Given the description of an element on the screen output the (x, y) to click on. 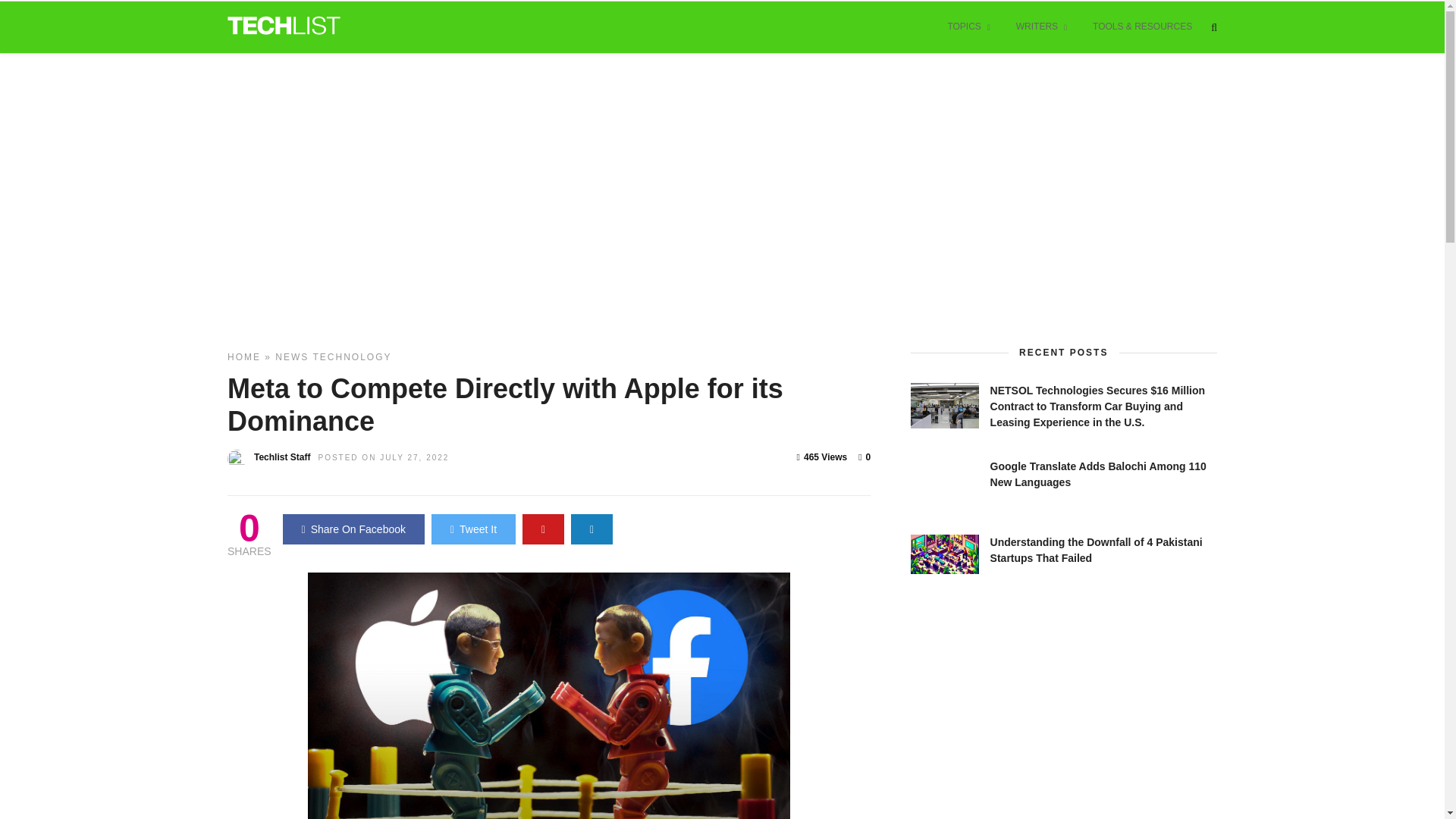
Share by Email (591, 529)
Share On Twitter (472, 529)
Share On Facebook (353, 529)
Advertisement (1024, 722)
TOPICS (968, 27)
NEWS (291, 357)
Share On Pinterest (543, 529)
WRITERS (1041, 27)
HOME (243, 357)
TECHNOLOGY (352, 357)
